Given the description of an element on the screen output the (x, y) to click on. 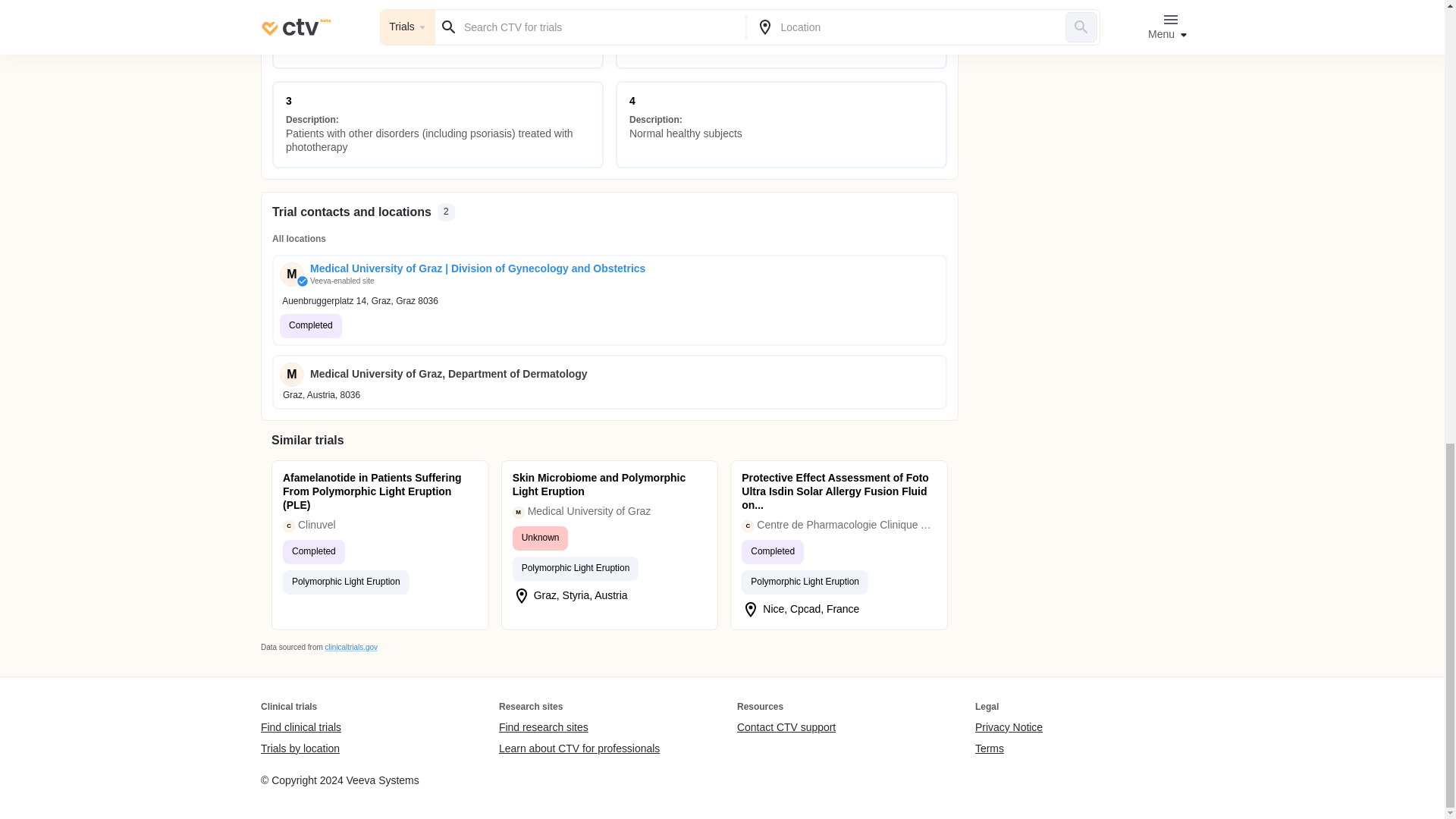
Trials by location (300, 748)
Contact CTV support (785, 727)
Learn about CTV for professionals (579, 748)
Terms (1008, 748)
clinicaltrials.gov (350, 646)
Privacy Notice (1008, 727)
Find research sites (579, 727)
Find clinical trials (300, 727)
